Given the description of an element on the screen output the (x, y) to click on. 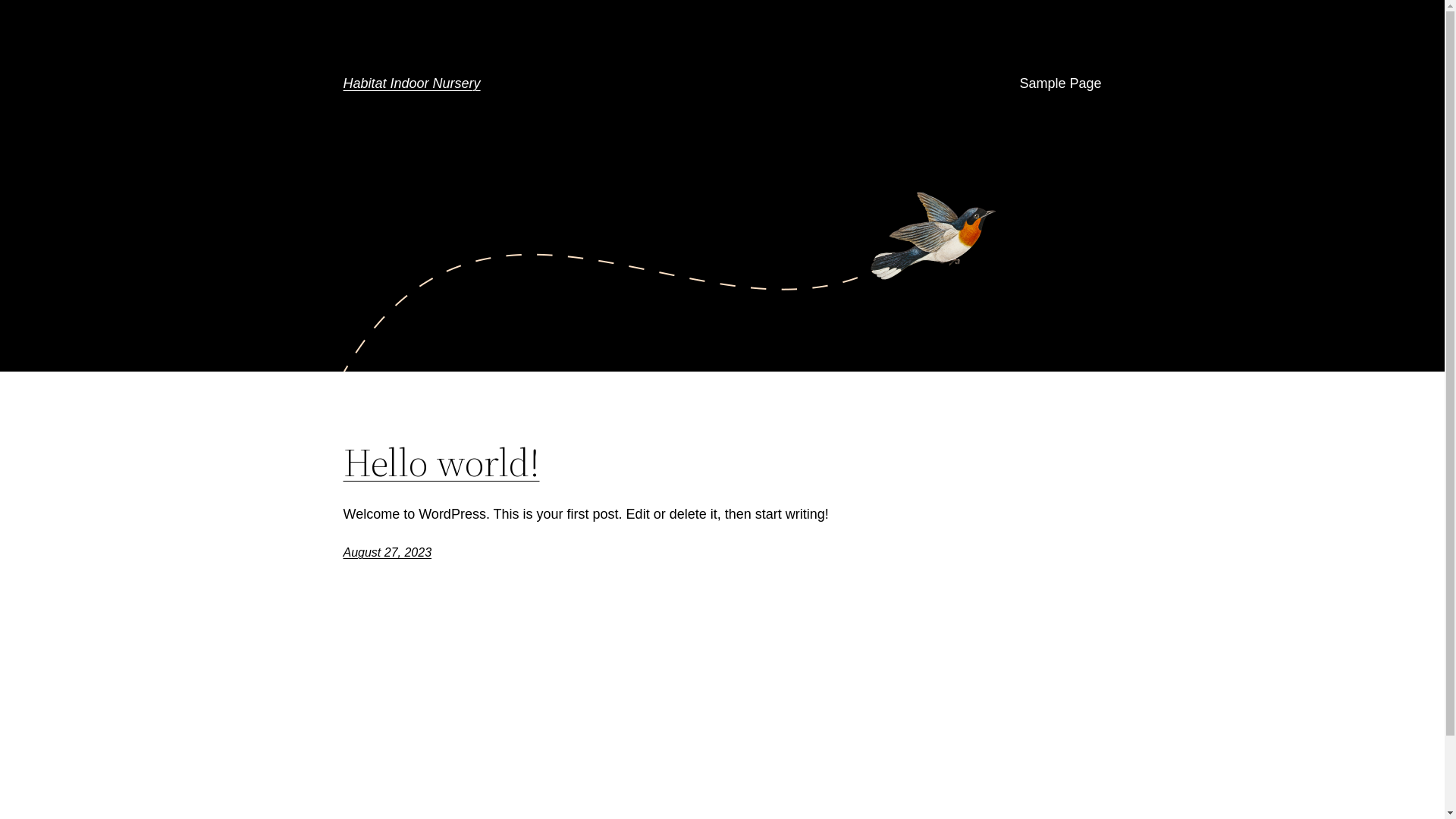
Hello world! Element type: text (440, 462)
Habitat Indoor Nursery Element type: text (411, 83)
Sample Page Element type: text (1060, 83)
August 27, 2023 Element type: text (386, 552)
